Given the description of an element on the screen output the (x, y) to click on. 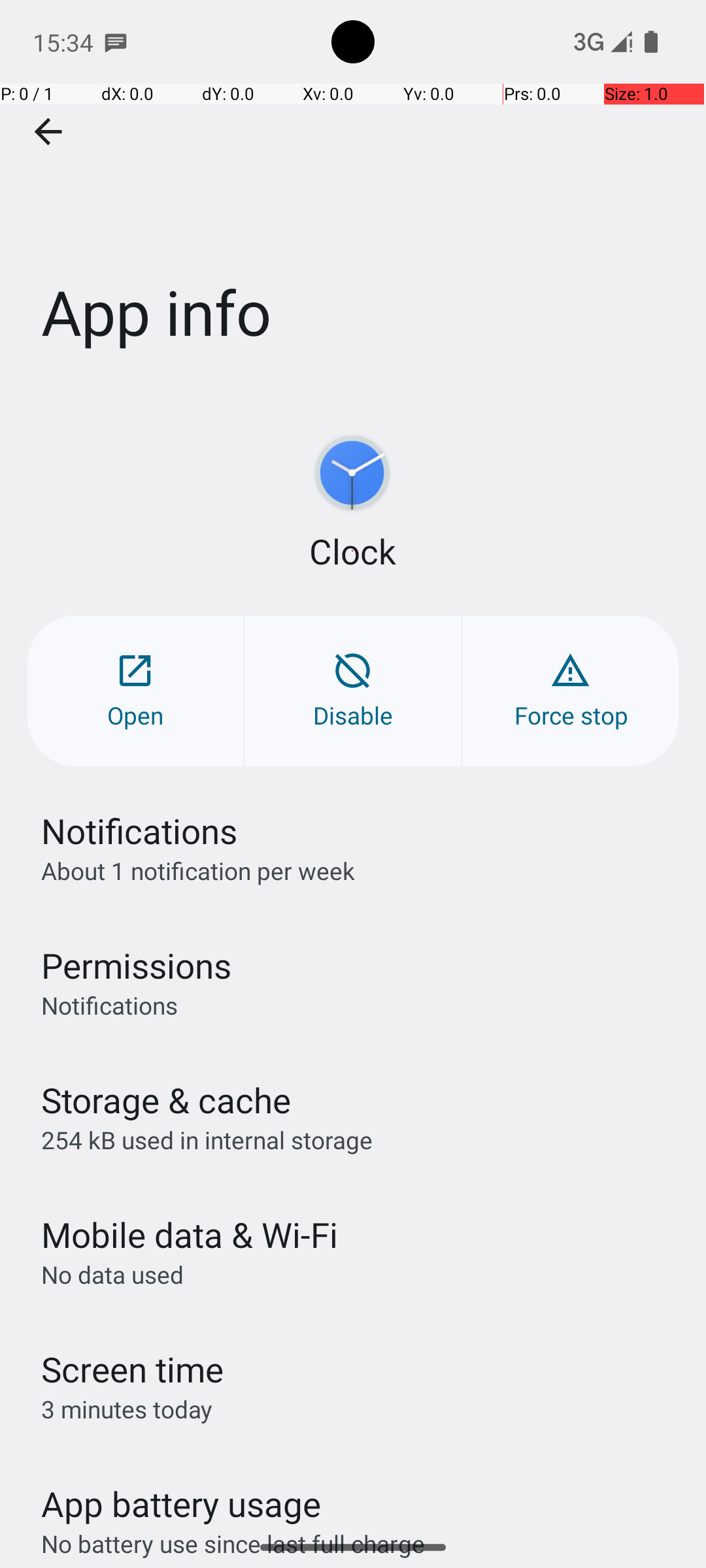
Open Element type: android.widget.Button (135, 690)
Disable Element type: android.widget.Button (352, 690)
Force stop Element type: android.widget.Button (570, 690)
About 1 notification per week Element type: android.widget.TextView (197, 870)
Permissions Element type: android.widget.TextView (136, 965)
Storage & cache Element type: android.widget.TextView (166, 1099)
254 kB used in internal storage Element type: android.widget.TextView (206, 1139)
Mobile data & Wi‑Fi Element type: android.widget.TextView (189, 1234)
No data used Element type: android.widget.TextView (112, 1273)
3 minutes today Element type: android.widget.TextView (127, 1408)
App battery usage Element type: android.widget.TextView (181, 1503)
